Given the description of an element on the screen output the (x, y) to click on. 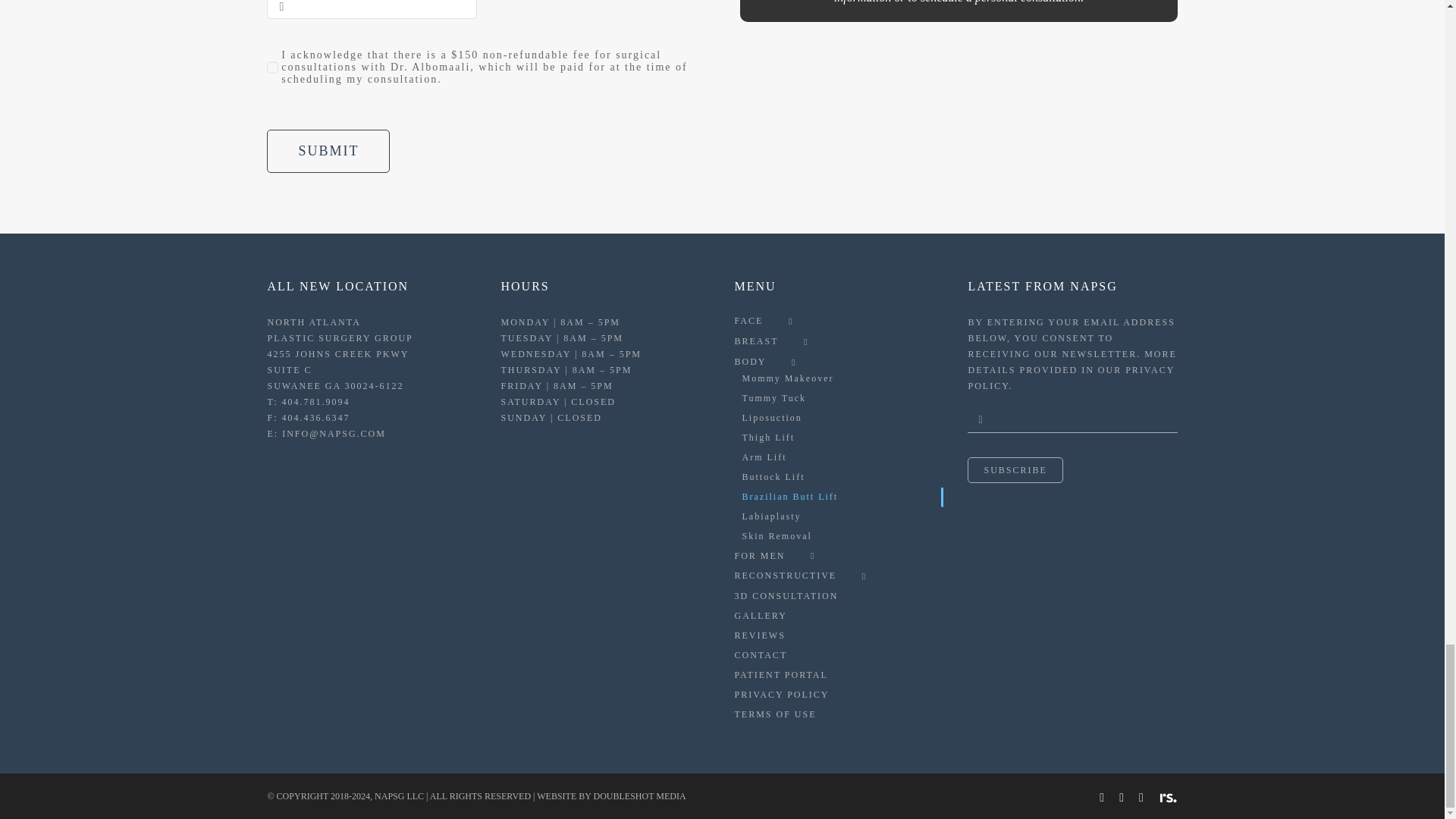
SUBSCRIBE (1072, 451)
